Given the description of an element on the screen output the (x, y) to click on. 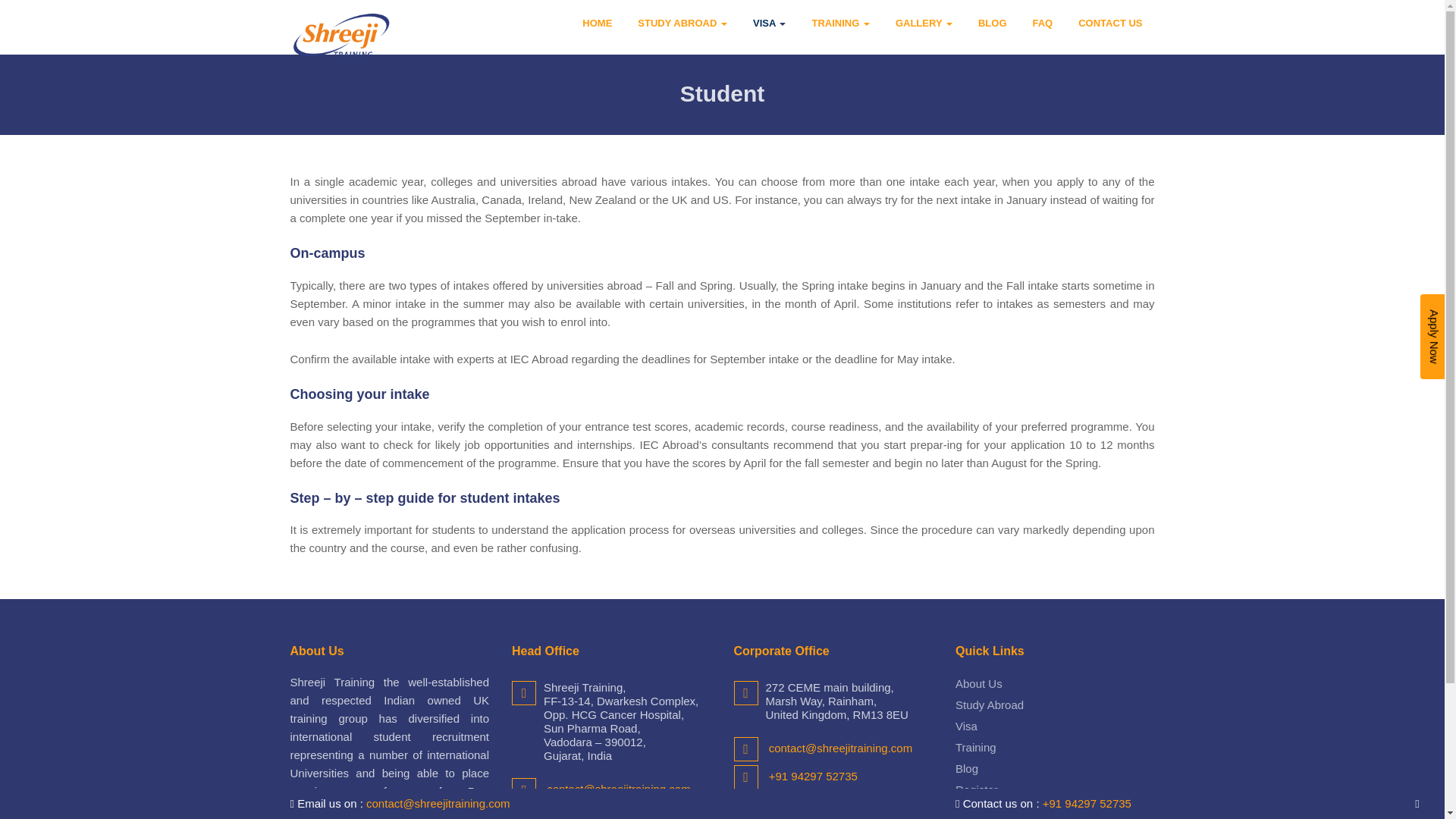
Blog (966, 768)
BLOG (992, 23)
Training (975, 747)
Home (597, 23)
About Us (979, 683)
CONTACT US (1109, 23)
STUDY ABROAD (682, 23)
FAQ (1042, 23)
Study Abroad  (682, 23)
GALLERY (923, 23)
Study Abroad (989, 704)
HOME (597, 23)
Training  (839, 23)
Apply Now (982, 810)
Visa  (769, 23)
